Given the description of an element on the screen output the (x, y) to click on. 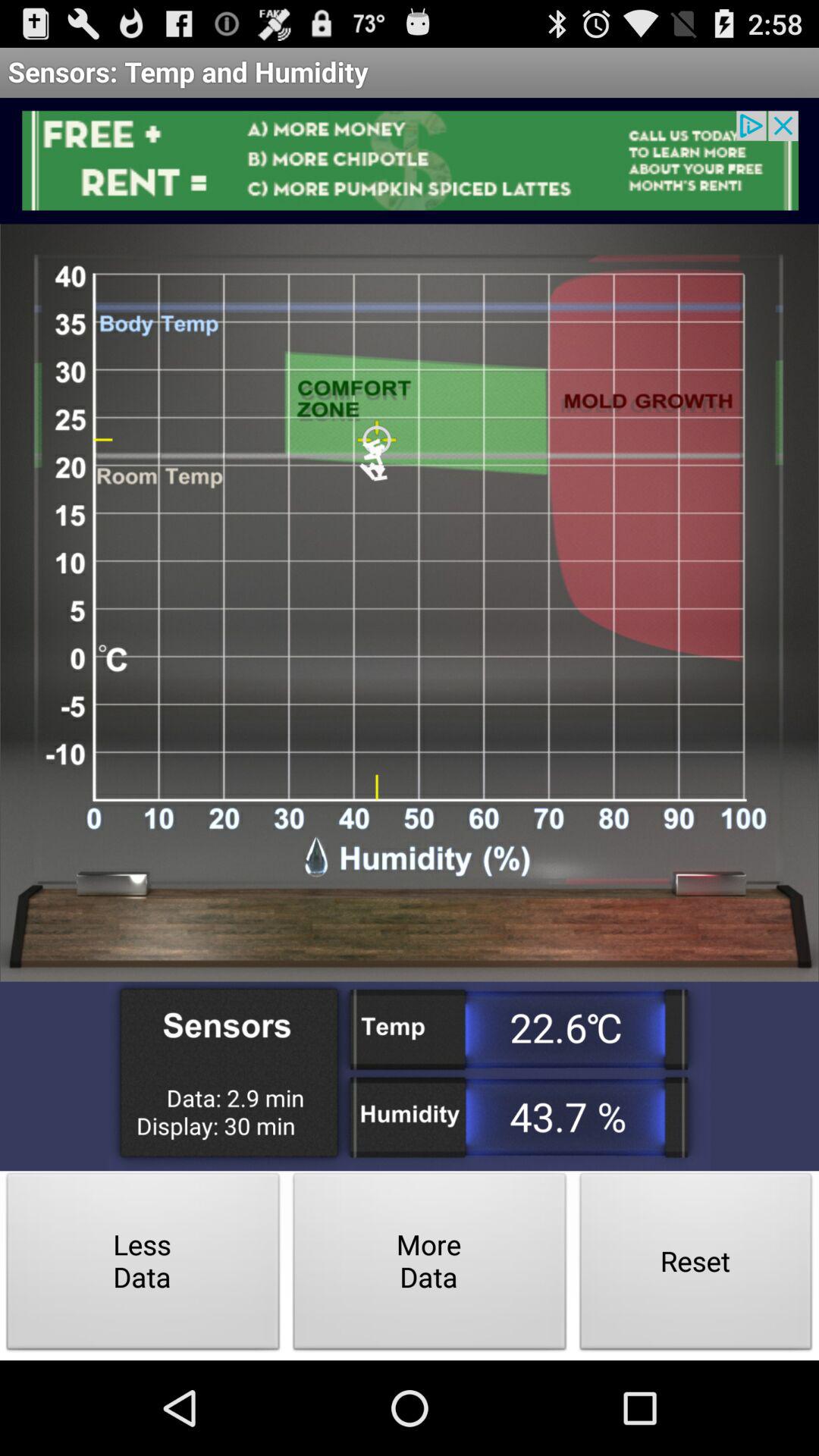
launch the more
data icon (429, 1265)
